Given the description of an element on the screen output the (x, y) to click on. 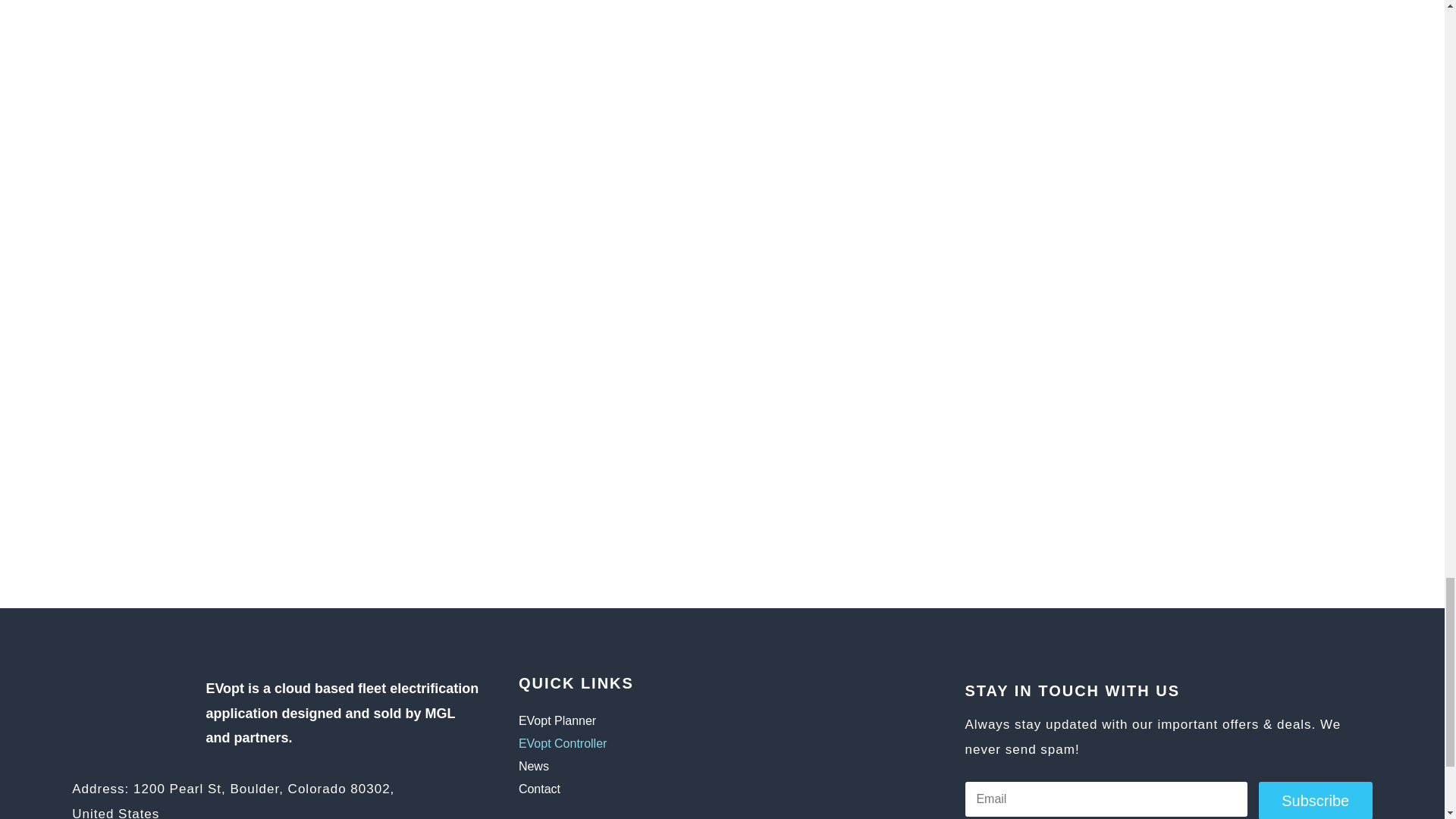
News (662, 769)
Subscribe (1316, 800)
EVopt Planner (662, 723)
Contact (662, 791)
EVopt Controller (662, 746)
